Given the description of an element on the screen output the (x, y) to click on. 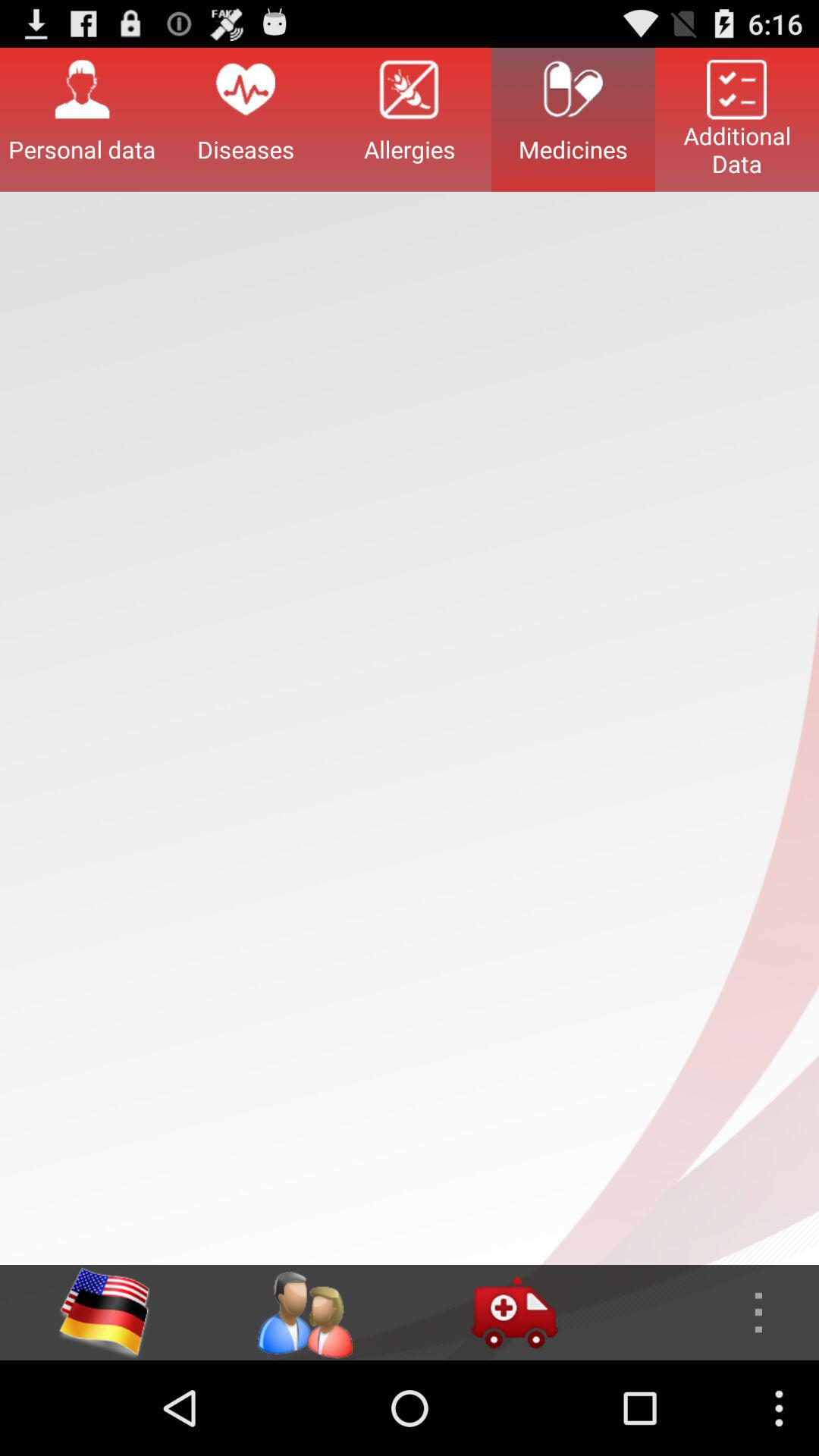
launch the item below the diseases (304, 1312)
